Given the description of an element on the screen output the (x, y) to click on. 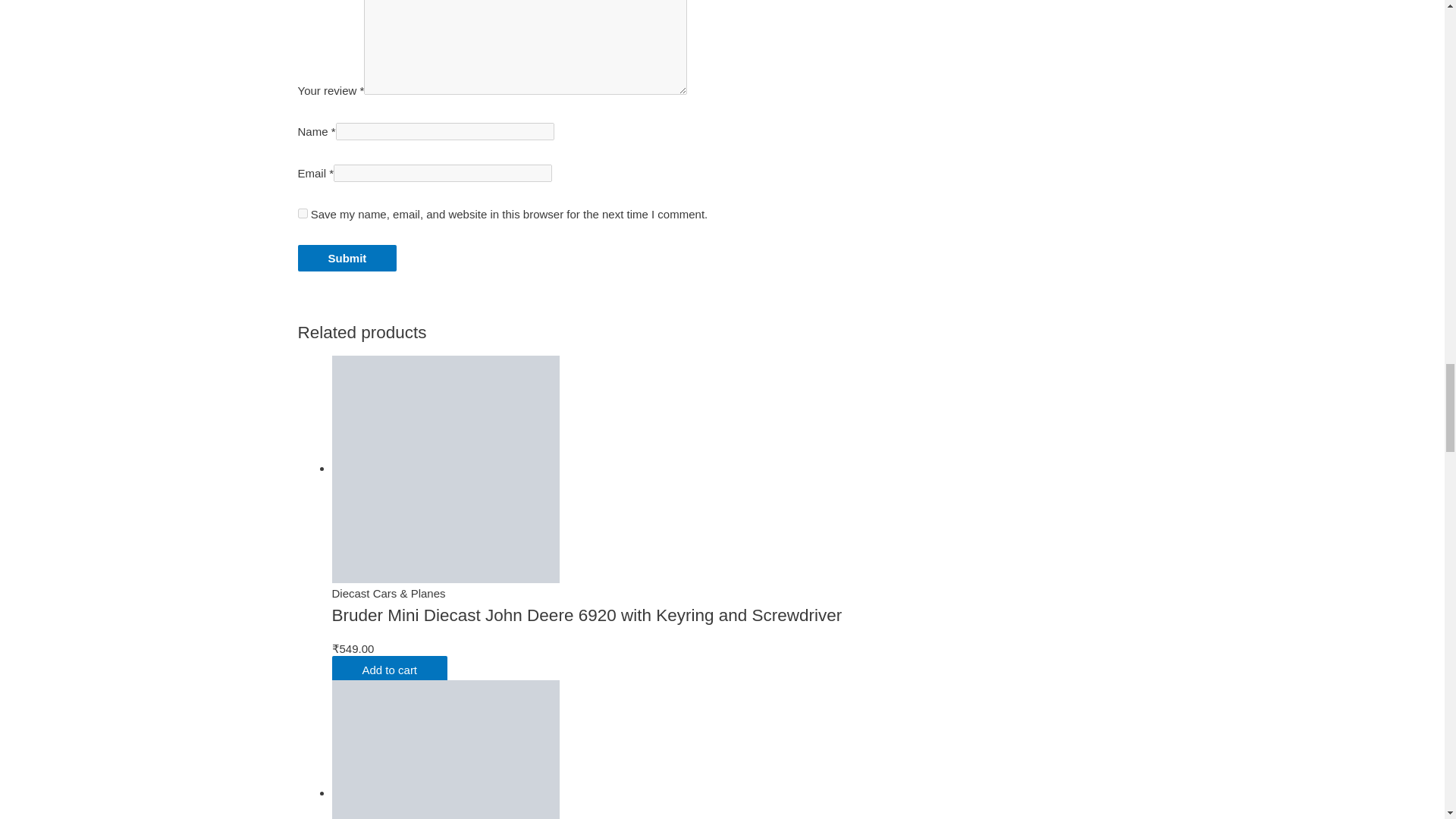
yes (302, 213)
Submit (346, 257)
